Given the description of an element on the screen output the (x, y) to click on. 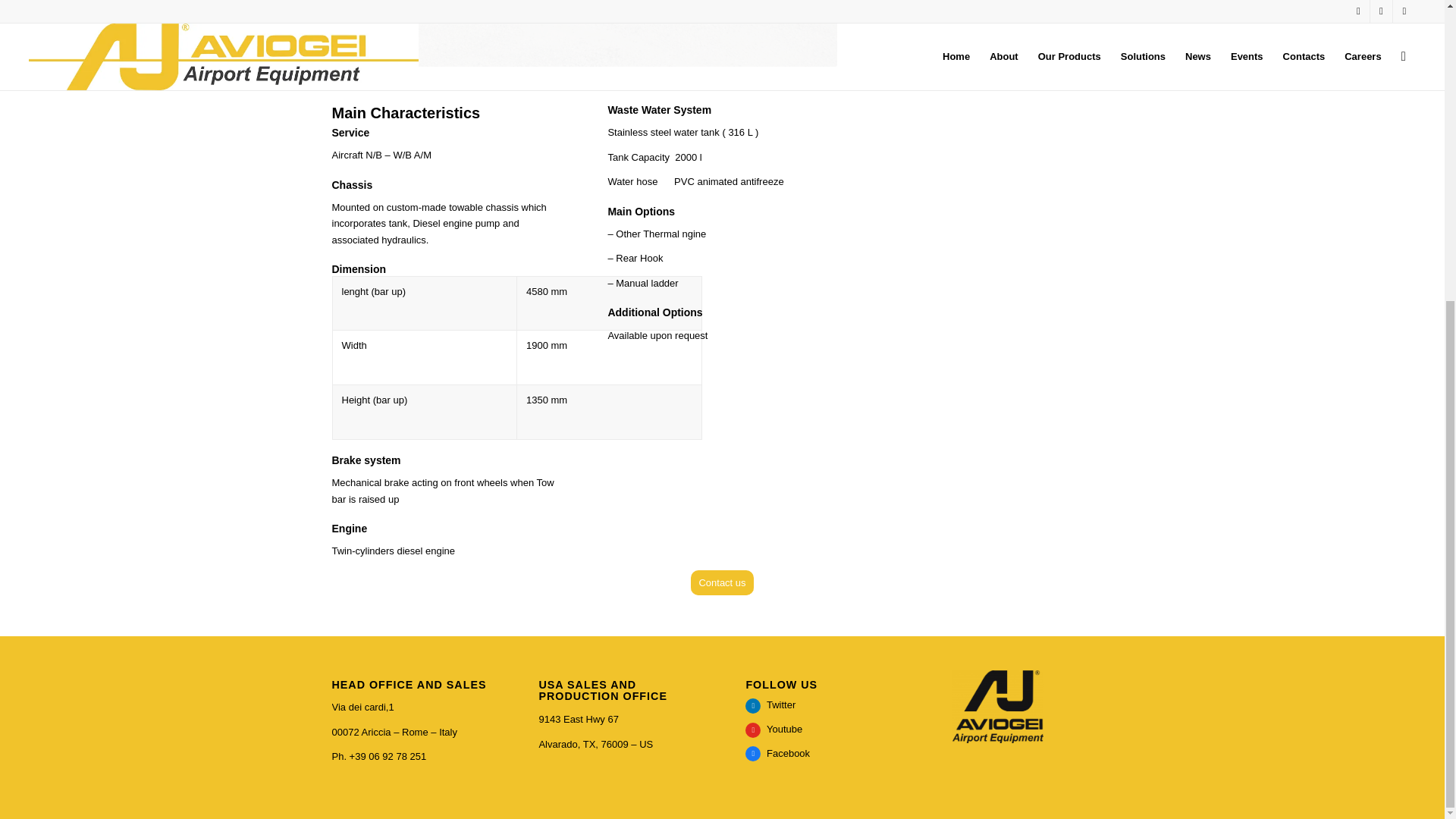
Youtube (773, 728)
Youtube (773, 728)
Contact us (721, 582)
Facebook (777, 753)
VAT 737 (584, 33)
Facebook (777, 753)
Twitter (769, 704)
Twitter (769, 704)
